Given the description of an element on the screen output the (x, y) to click on. 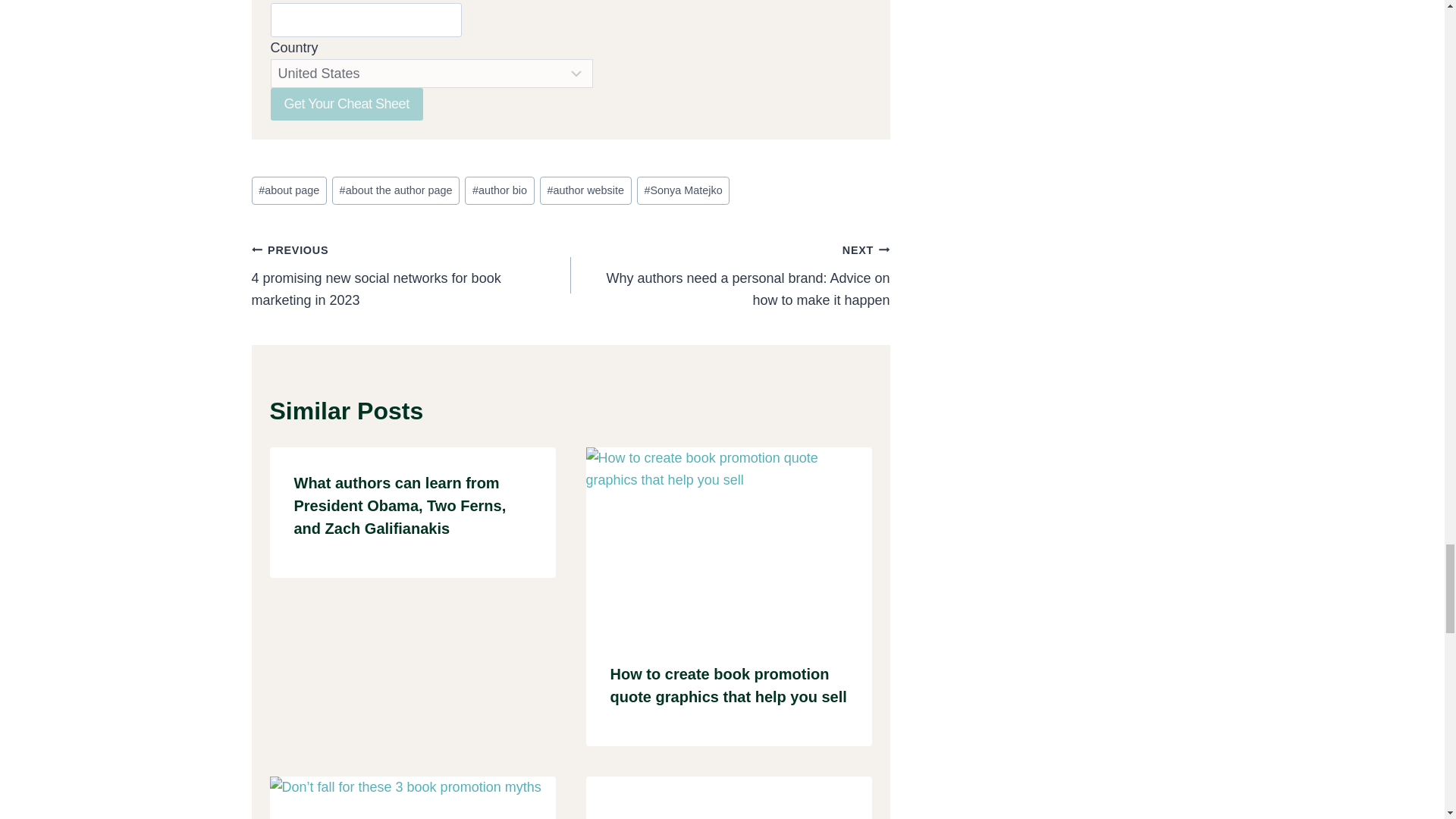
author bio (499, 190)
Get Your Cheat Sheet (345, 103)
Sonya Matejko (683, 190)
about the author page (395, 190)
author website (585, 190)
about page (288, 190)
